Given the description of an element on the screen output the (x, y) to click on. 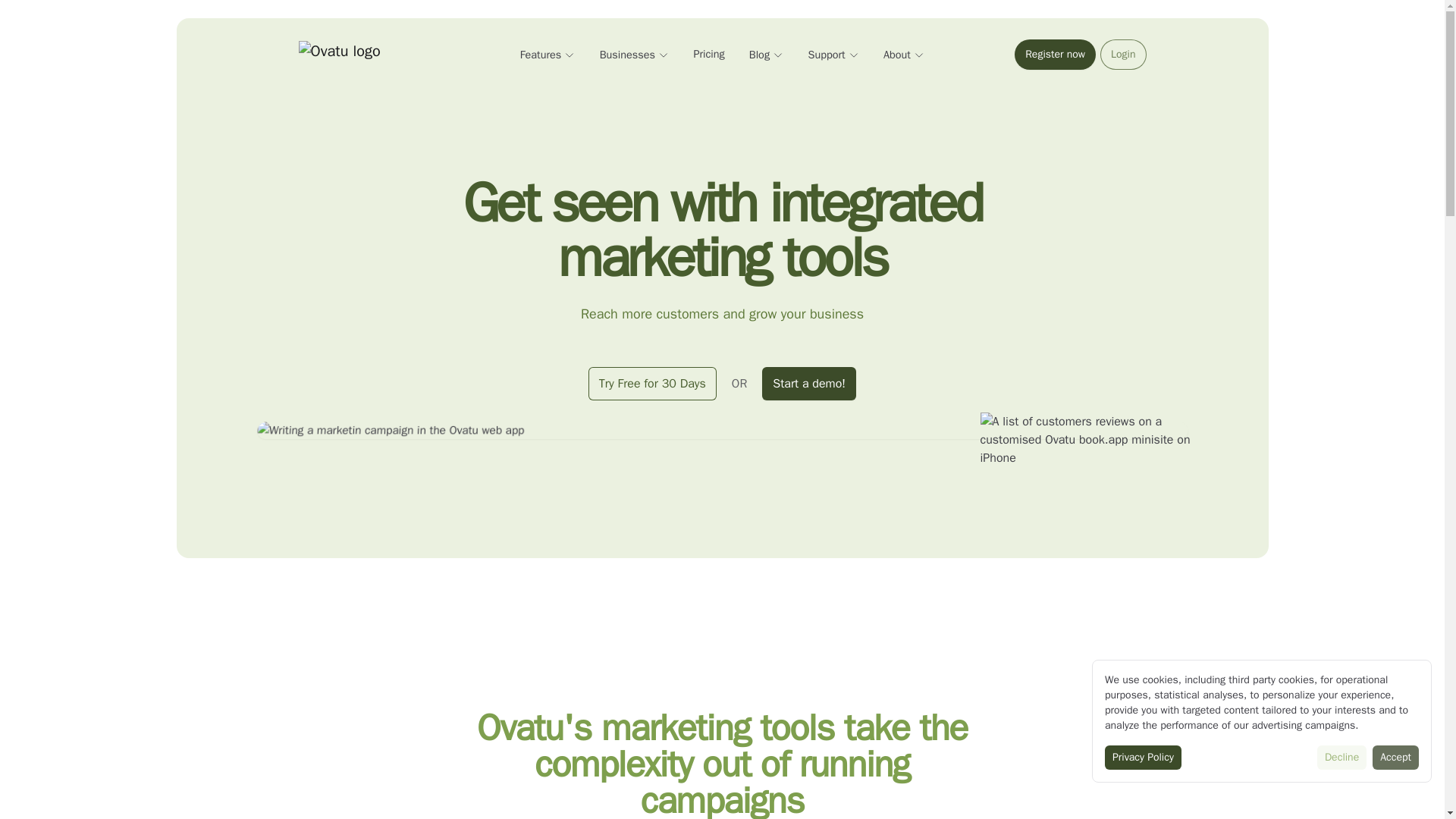
Try Free for 30 Days (652, 383)
About (903, 54)
Login (1122, 54)
Support (833, 54)
Features (547, 54)
Start a demo! (808, 383)
Register now (1055, 54)
Privacy Policy (1142, 757)
Accept (1395, 757)
Blog (766, 54)
Start 30 free trial (1055, 54)
Decline (1342, 757)
Pricing (708, 54)
Businesses (634, 54)
